Given the description of an element on the screen output the (x, y) to click on. 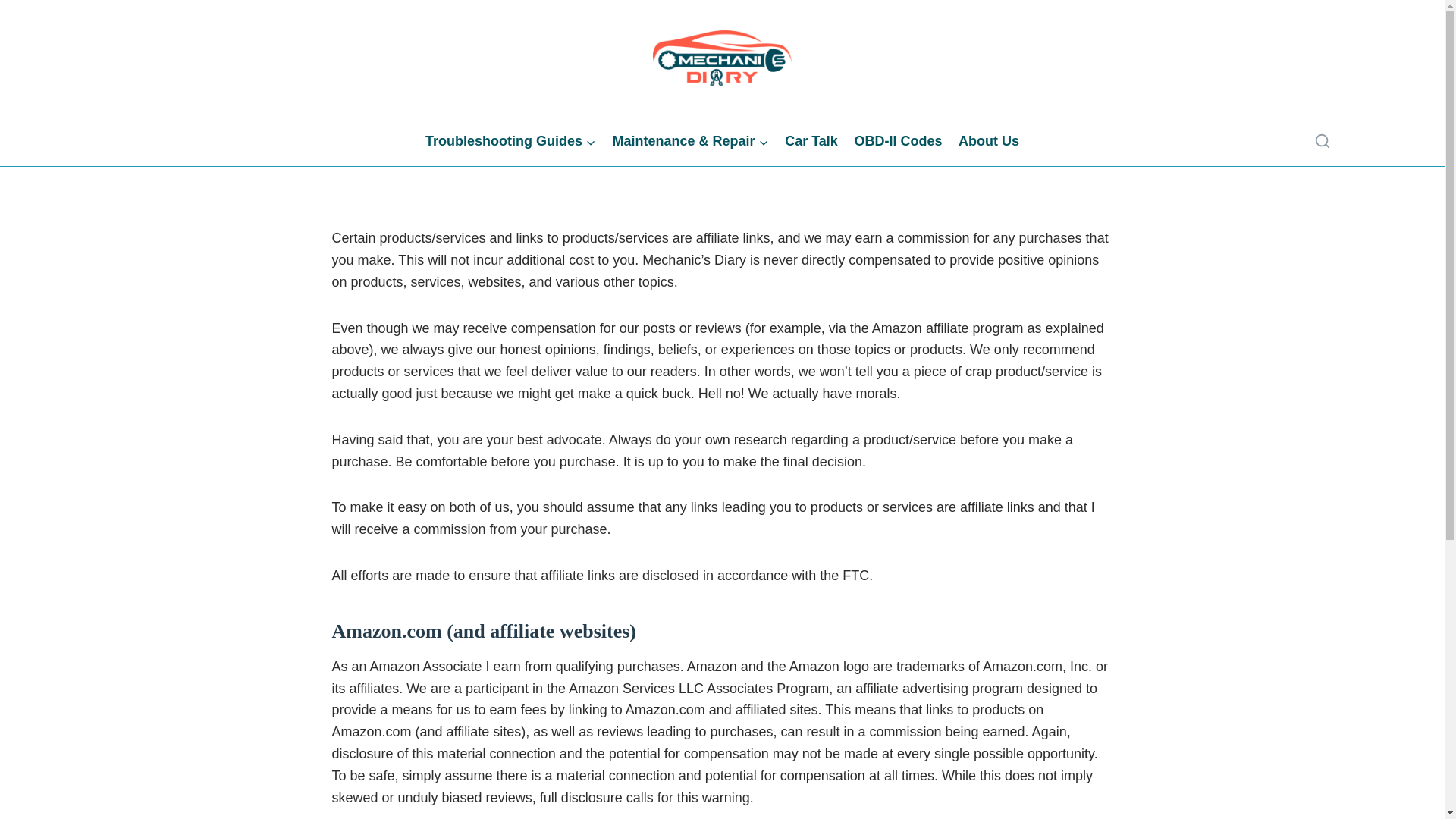
Car Talk (810, 141)
About Us (988, 141)
OBD-II Codes (897, 141)
Troubleshooting Guides (510, 141)
